Given the description of an element on the screen output the (x, y) to click on. 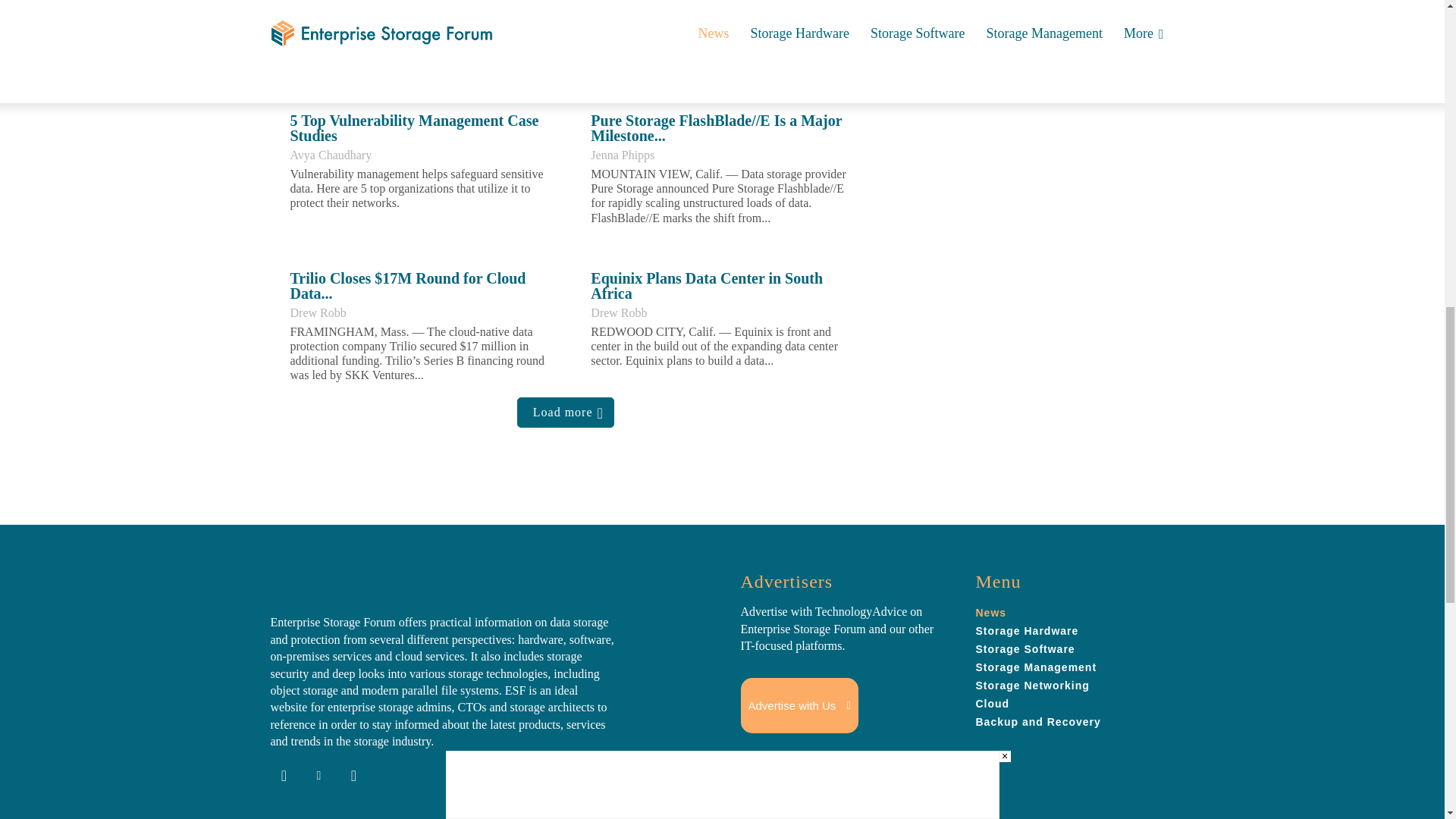
Jenna Phipps (622, 154)
5 Top Vulnerability Management Case Studies (413, 128)
Henry Newman (327, 2)
5 Top Vulnerability Management Case Studies (413, 128)
Avya Chaudhary (330, 154)
Chris Bernard (625, 2)
